Given the description of an element on the screen output the (x, y) to click on. 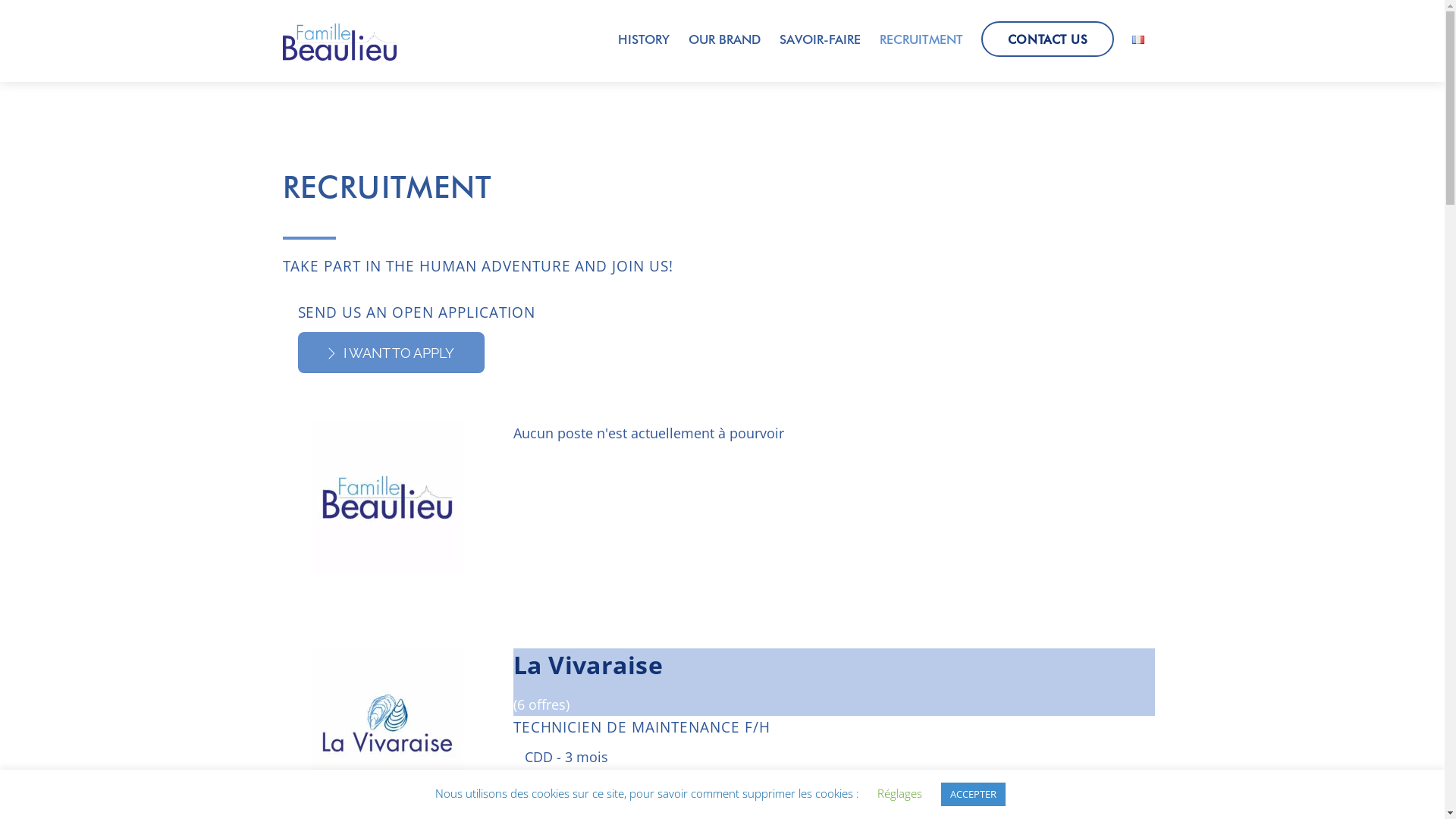
CONTACT US Element type: text (1047, 38)
ACCEPTER Element type: text (973, 794)
Famille Beaulieu Element type: hover (338, 53)
OUR BRAND Element type: text (724, 39)
TECHNICIEN DE MAINTENANCE F/H Element type: text (641, 726)
HISTORY Element type: text (643, 39)
La Vivaraise Element type: hover (387, 723)
LogoFamilleBeaulieu Element type: hover (387, 497)
RECRUITMENT Element type: text (921, 39)
I WANT TO APPLY Element type: text (390, 352)
SAVOIR-FAIRE Element type: text (819, 39)
